Given the description of an element on the screen output the (x, y) to click on. 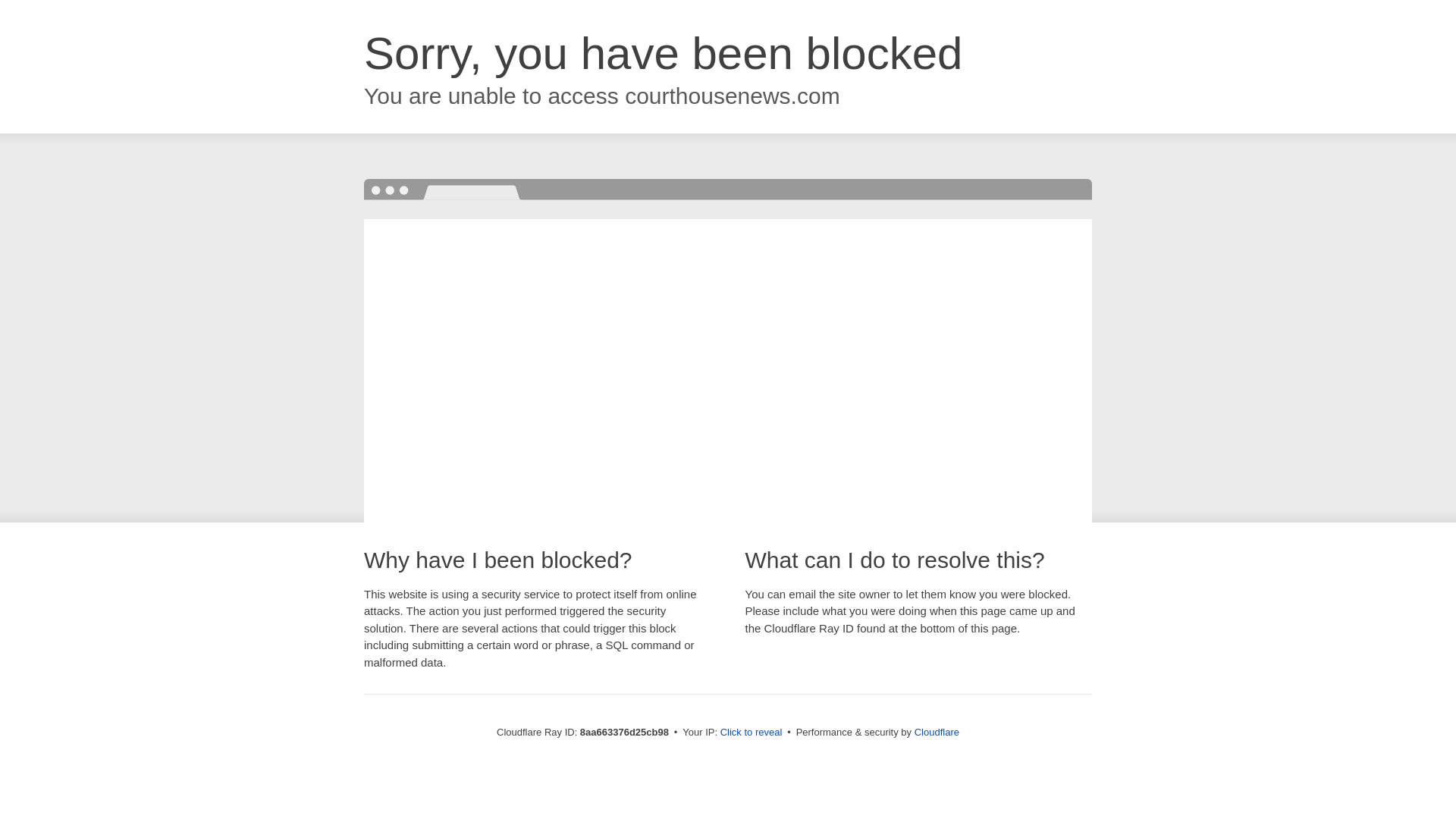
Cloudflare (936, 731)
Click to reveal (751, 732)
